Given the description of an element on the screen output the (x, y) to click on. 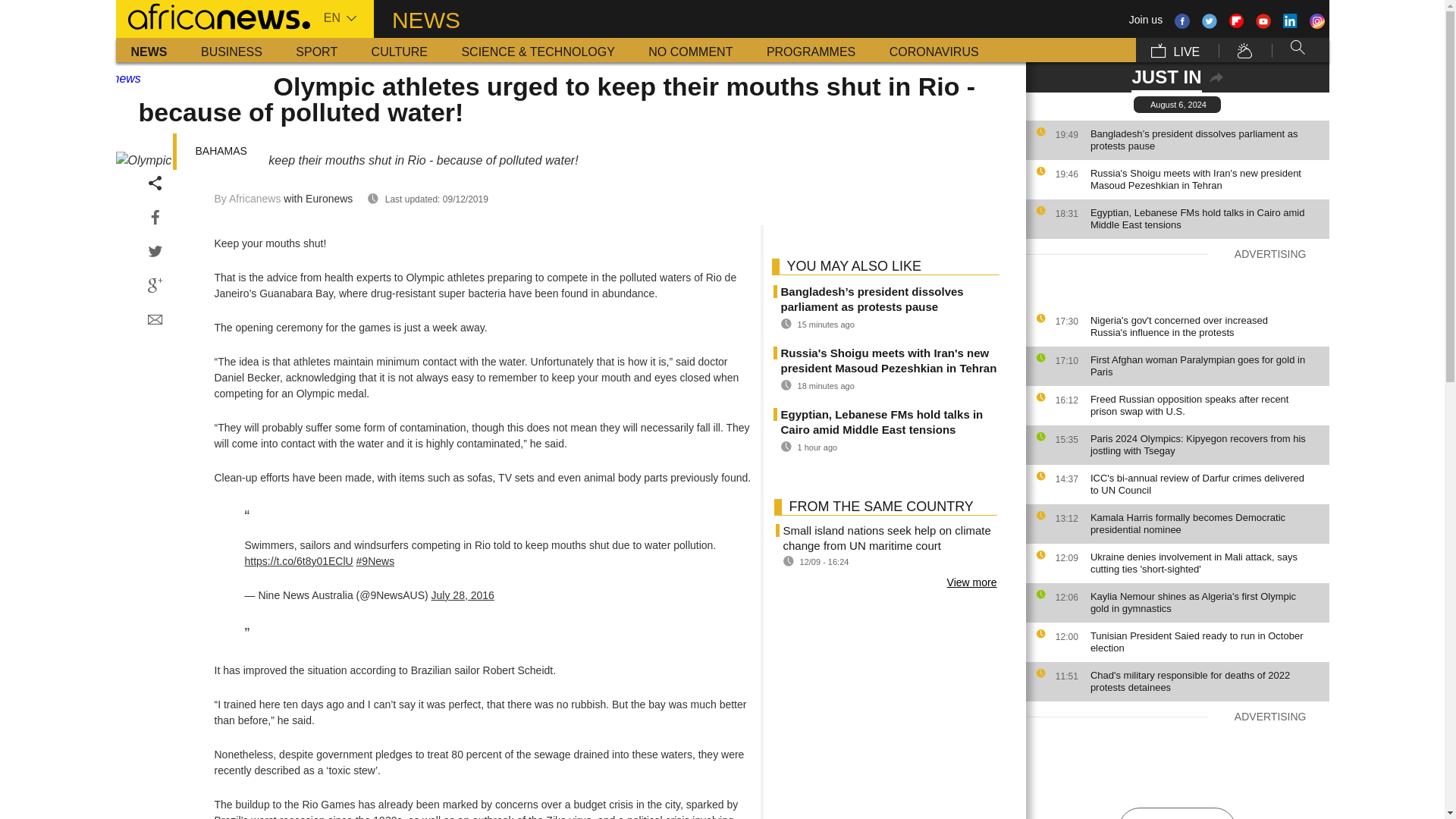
BUSINESS (232, 49)
SPORT (316, 49)
Coronavirus (934, 49)
First Afghan woman Paralympian goes for gold in Paris (1206, 365)
PROGRAMMES (810, 49)
Africanews (211, 15)
CULTURE (399, 49)
NEWS (148, 49)
Sport (316, 49)
News (148, 49)
NO COMMENT (690, 49)
Business (232, 49)
